Given the description of an element on the screen output the (x, y) to click on. 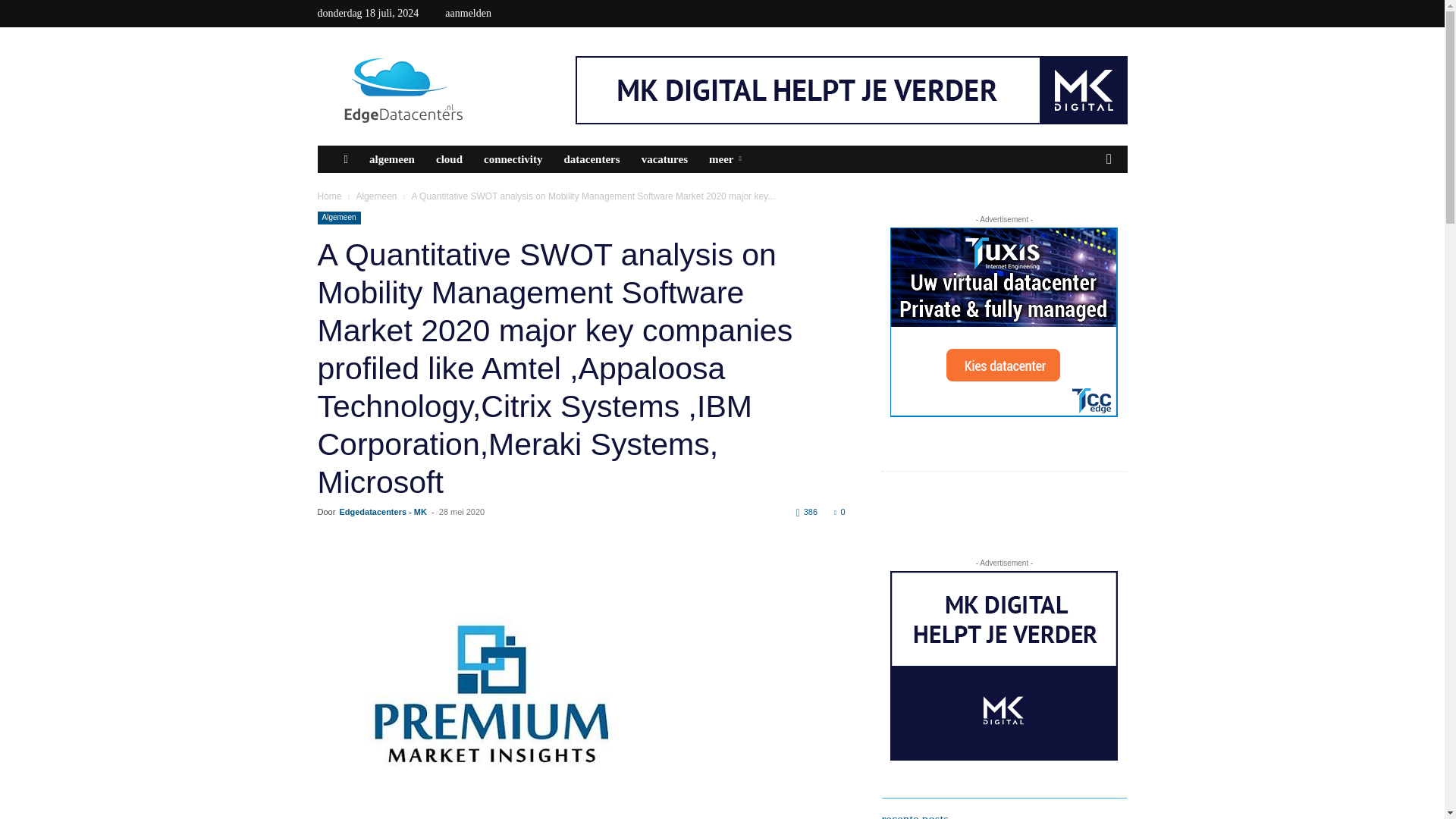
algemeen (391, 158)
vacatures (664, 158)
Home (328, 195)
cloud (449, 158)
connectivity (513, 158)
meer (727, 158)
Bekijk alle posts in Algemeen (375, 195)
aanmelden (468, 12)
Zoek (1086, 215)
EdgeDatacenters.nl (445, 90)
datacenters (591, 158)
